Given the description of an element on the screen output the (x, y) to click on. 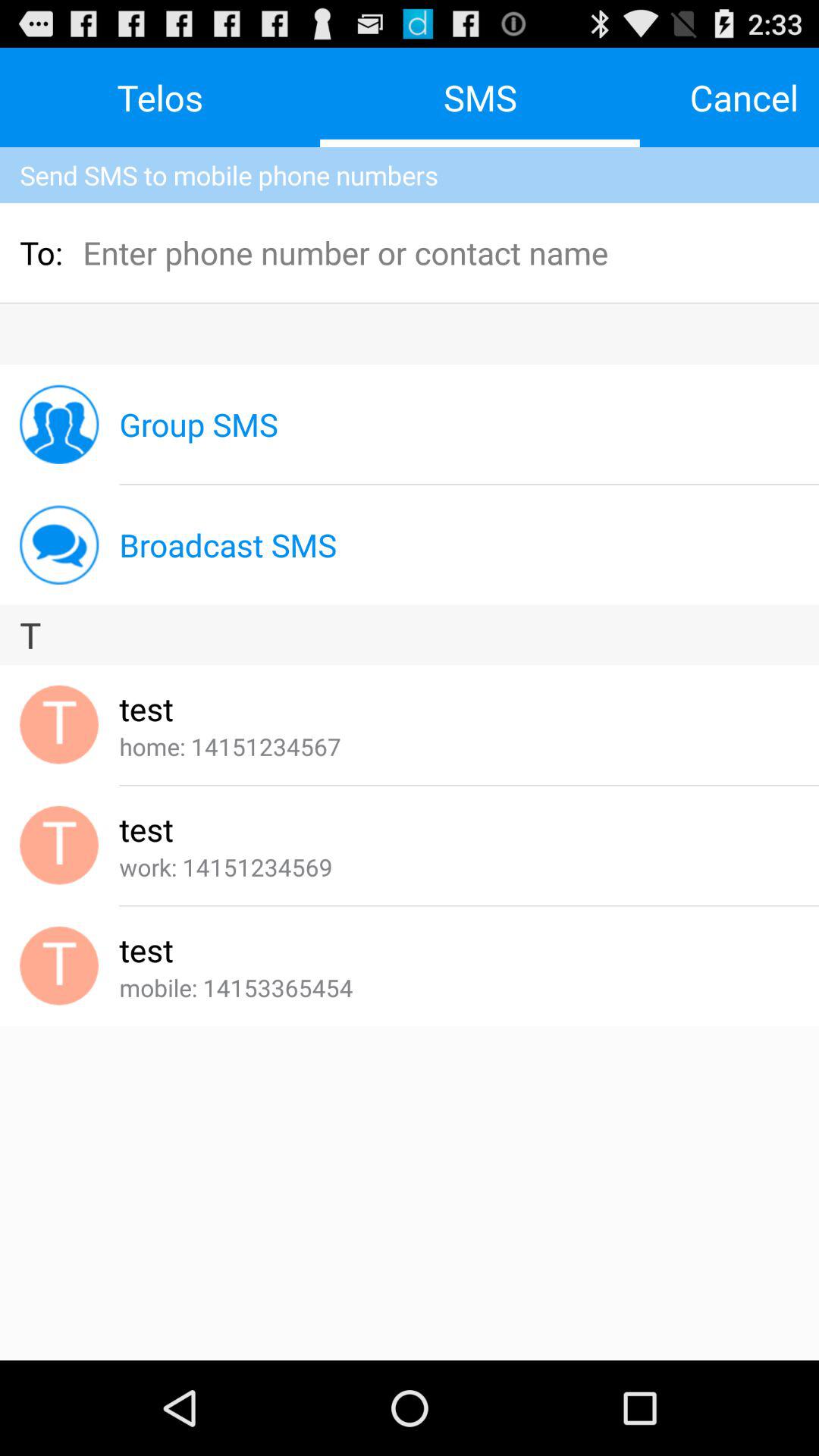
tap the app above the send sms to item (743, 97)
